Given the description of an element on the screen output the (x, y) to click on. 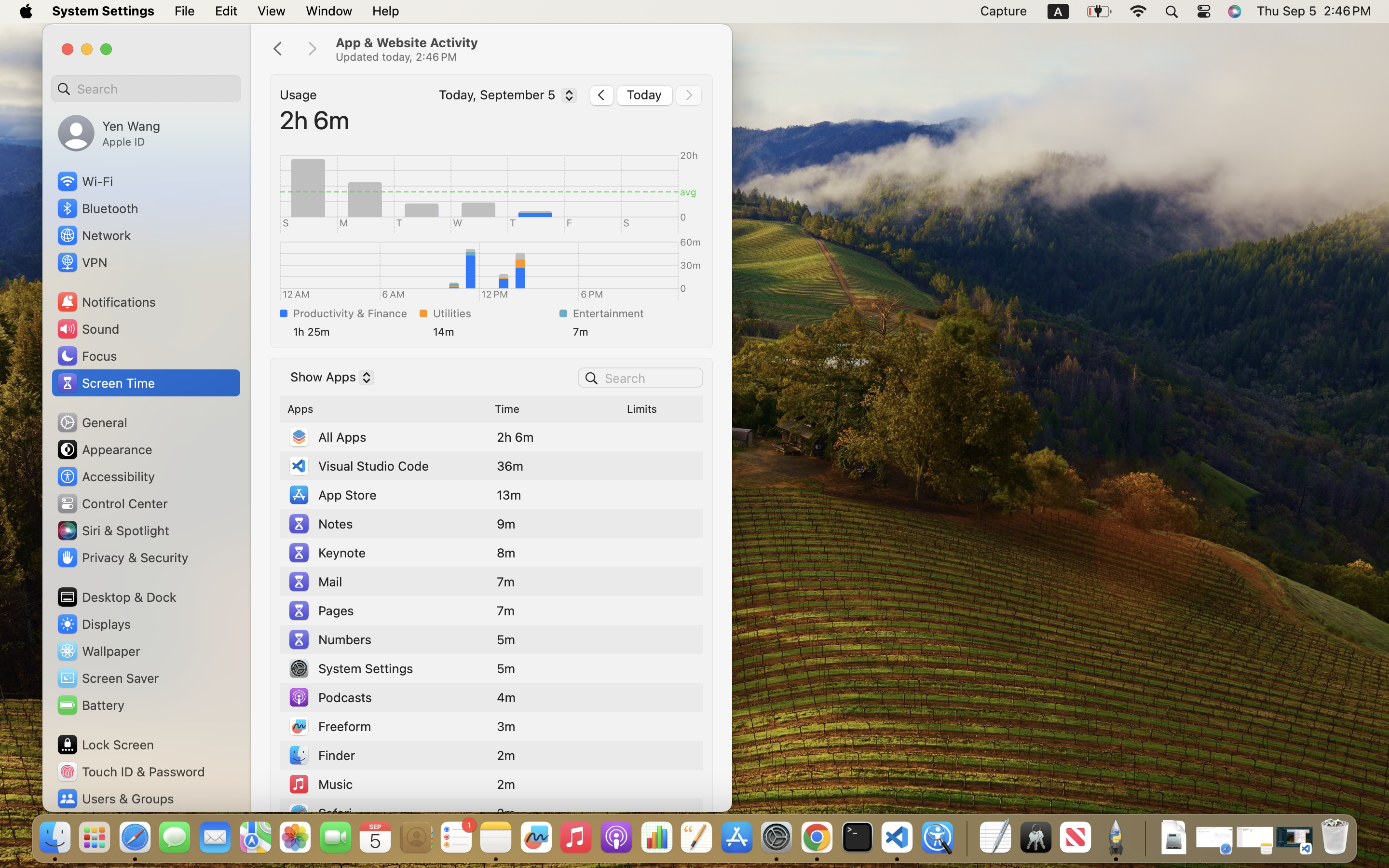
VPN Element type: AXStaticText (81, 261)
Control Center Element type: AXStaticText (111, 503)
Finder Element type: AXStaticText (320, 754)
App Store Element type: AXStaticText (331, 494)
2m Element type: AXStaticText (505, 754)
